Given the description of an element on the screen output the (x, y) to click on. 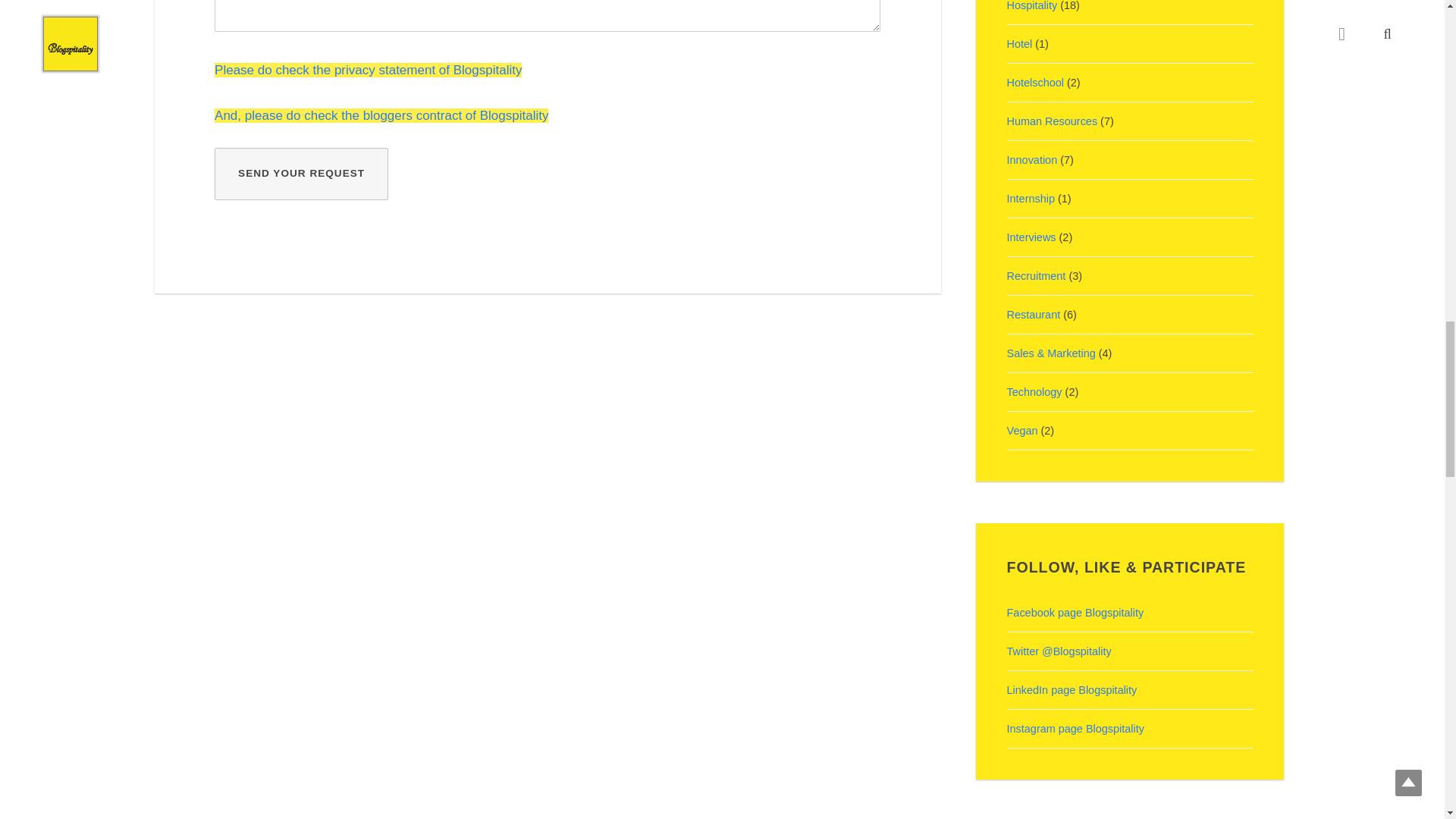
And, please do check the bloggers contract of Blogspitality (381, 115)
Send your request (301, 173)
Send your request (301, 173)
Please do check the privacy statement of Blogspitality (367, 69)
